Given the description of an element on the screen output the (x, y) to click on. 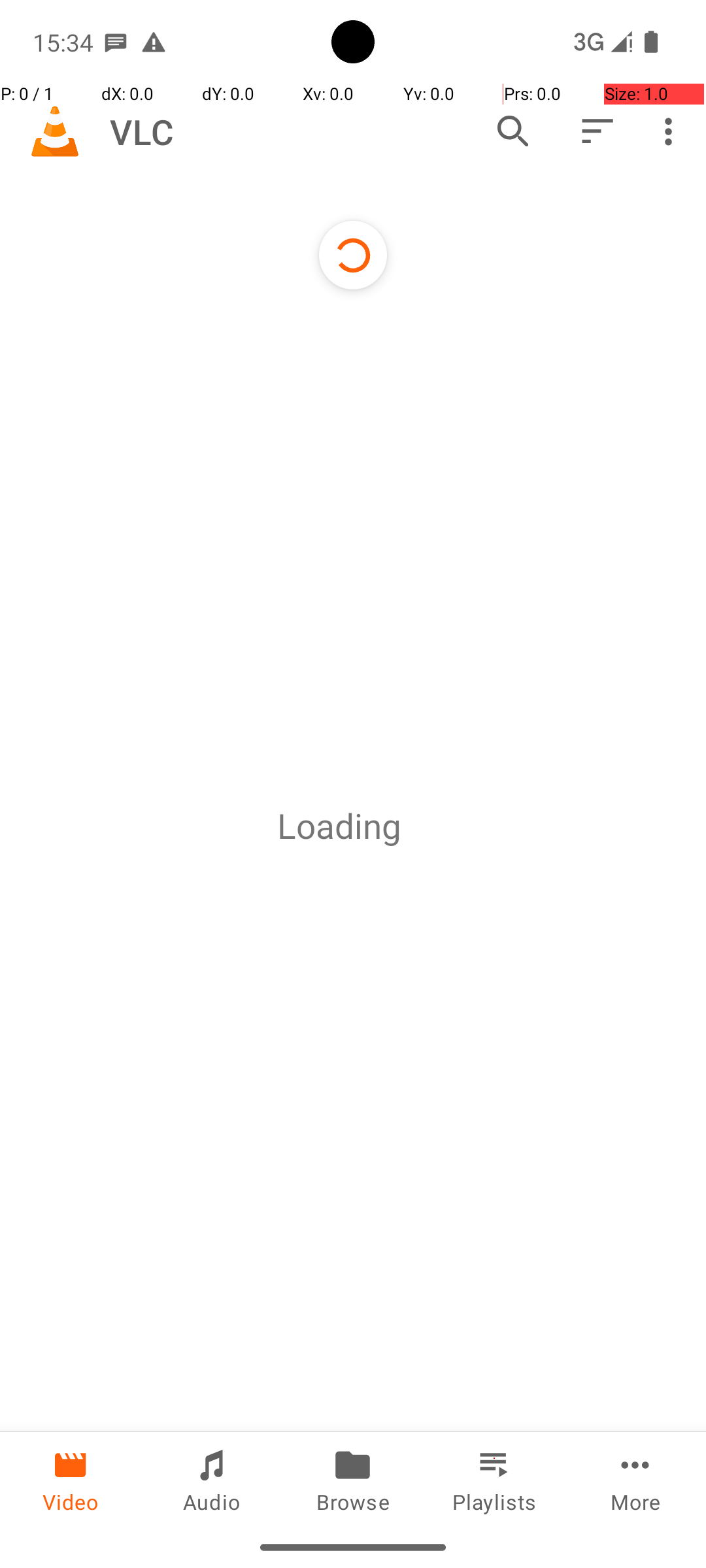
Loading Element type: android.widget.TextView (339, 825)
